Given the description of an element on the screen output the (x, y) to click on. 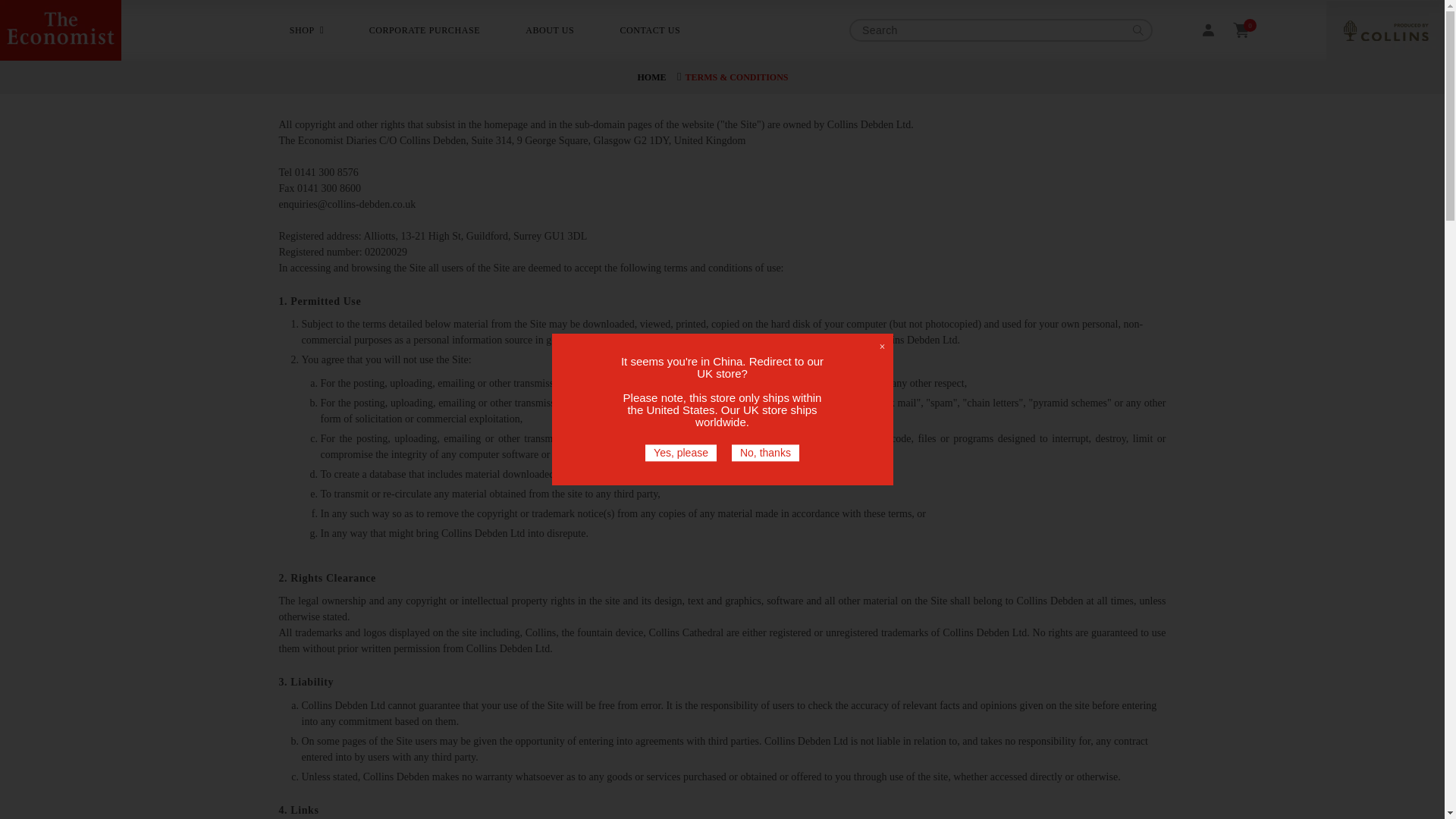
No, thanks (765, 452)
CONTACT US (649, 30)
ABOUT US (549, 30)
HOME (651, 76)
Log in (1207, 29)
CORPORATE PURCHASE (425, 30)
SHOP (301, 30)
Yes, please (680, 452)
Skip to content (45, 17)
